Given the description of an element on the screen output the (x, y) to click on. 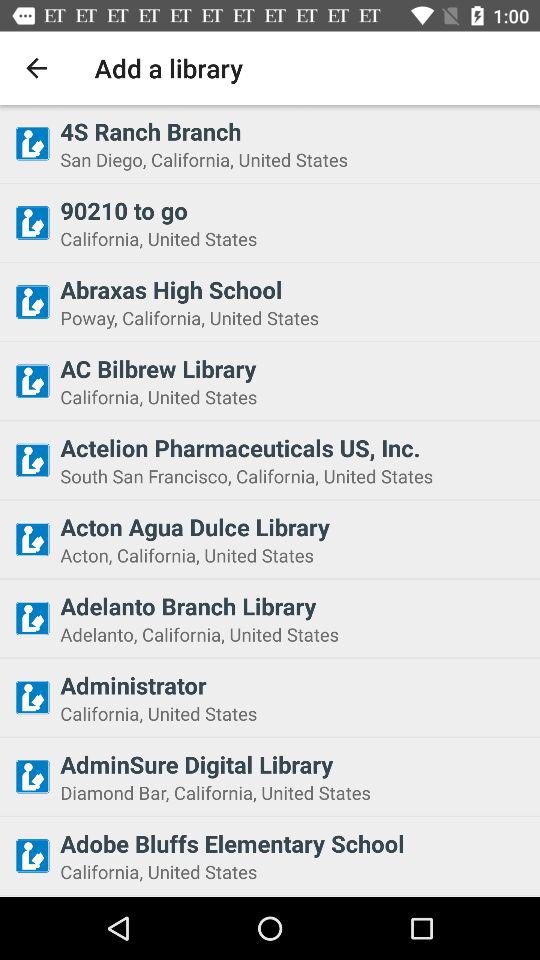
select icon below the adelanto california united item (294, 685)
